Given the description of an element on the screen output the (x, y) to click on. 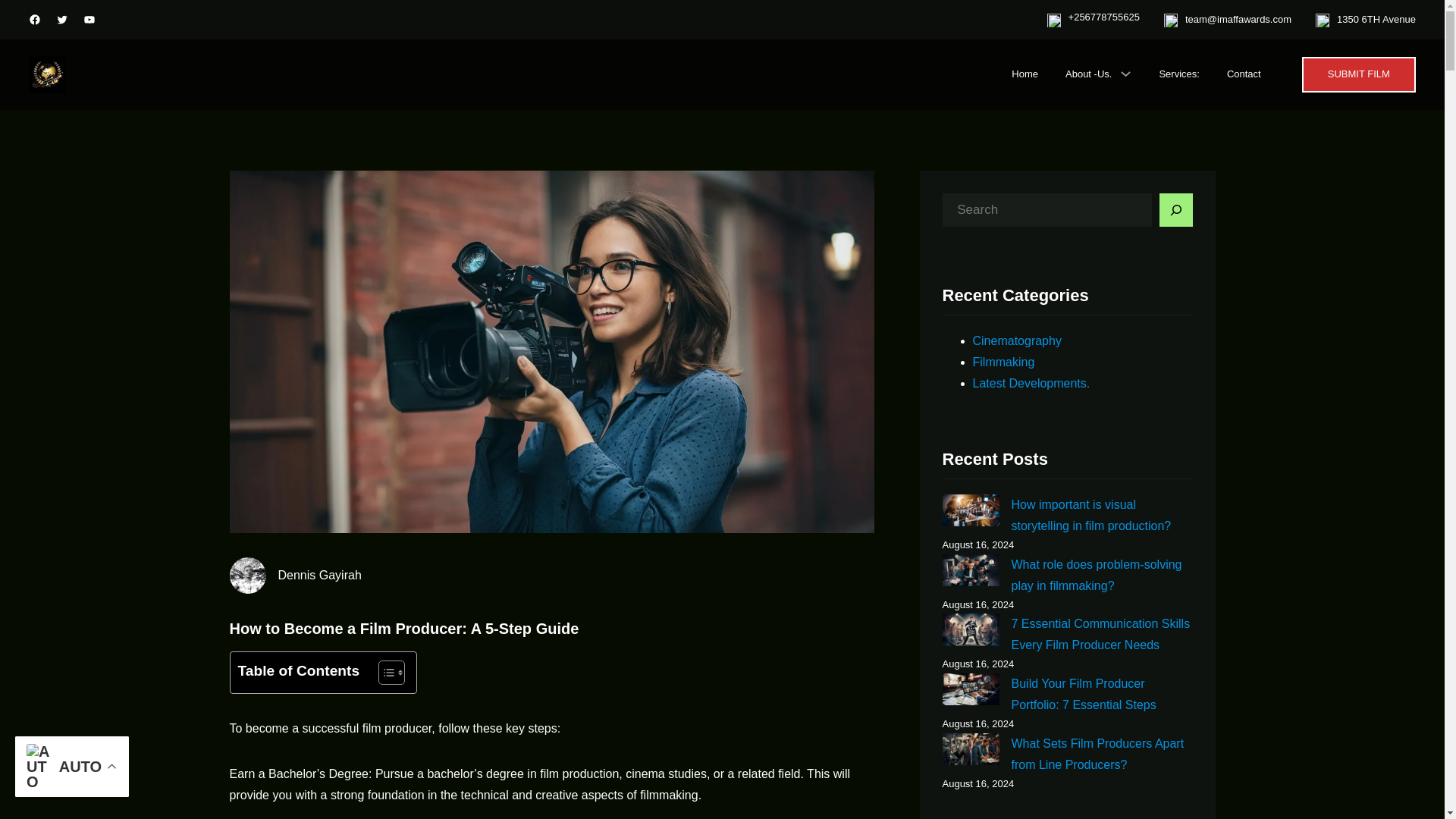
Facebook (34, 19)
YouTube (89, 19)
Twitter (62, 19)
About -Us. (1088, 74)
Contact (1243, 74)
SUBMIT FILM (1358, 74)
Services: (1178, 74)
